Given the description of an element on the screen output the (x, y) to click on. 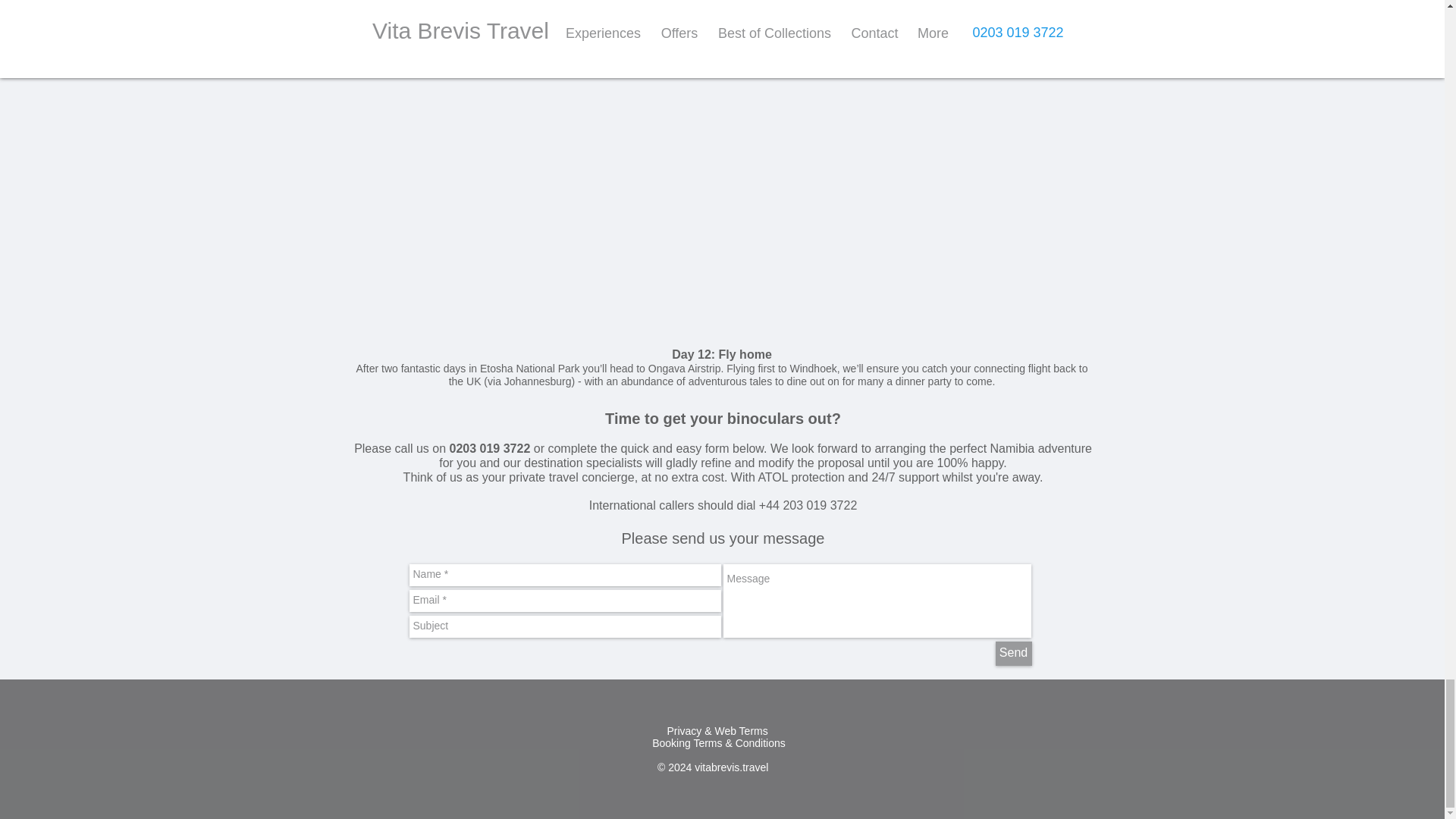
Send (1012, 653)
